Given the description of an element on the screen output the (x, y) to click on. 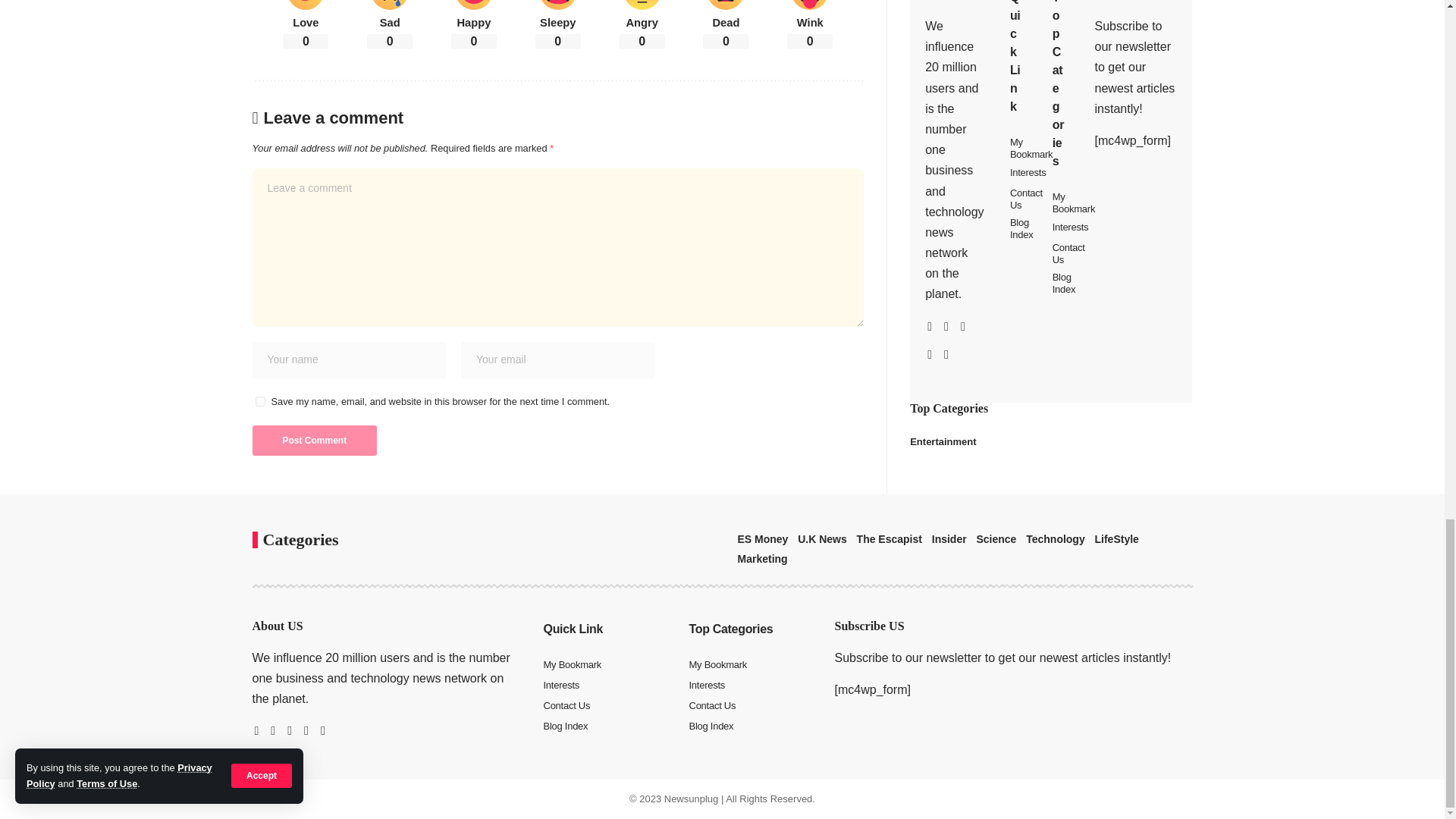
Post Comment (314, 440)
yes (259, 401)
